Given the description of an element on the screen output the (x, y) to click on. 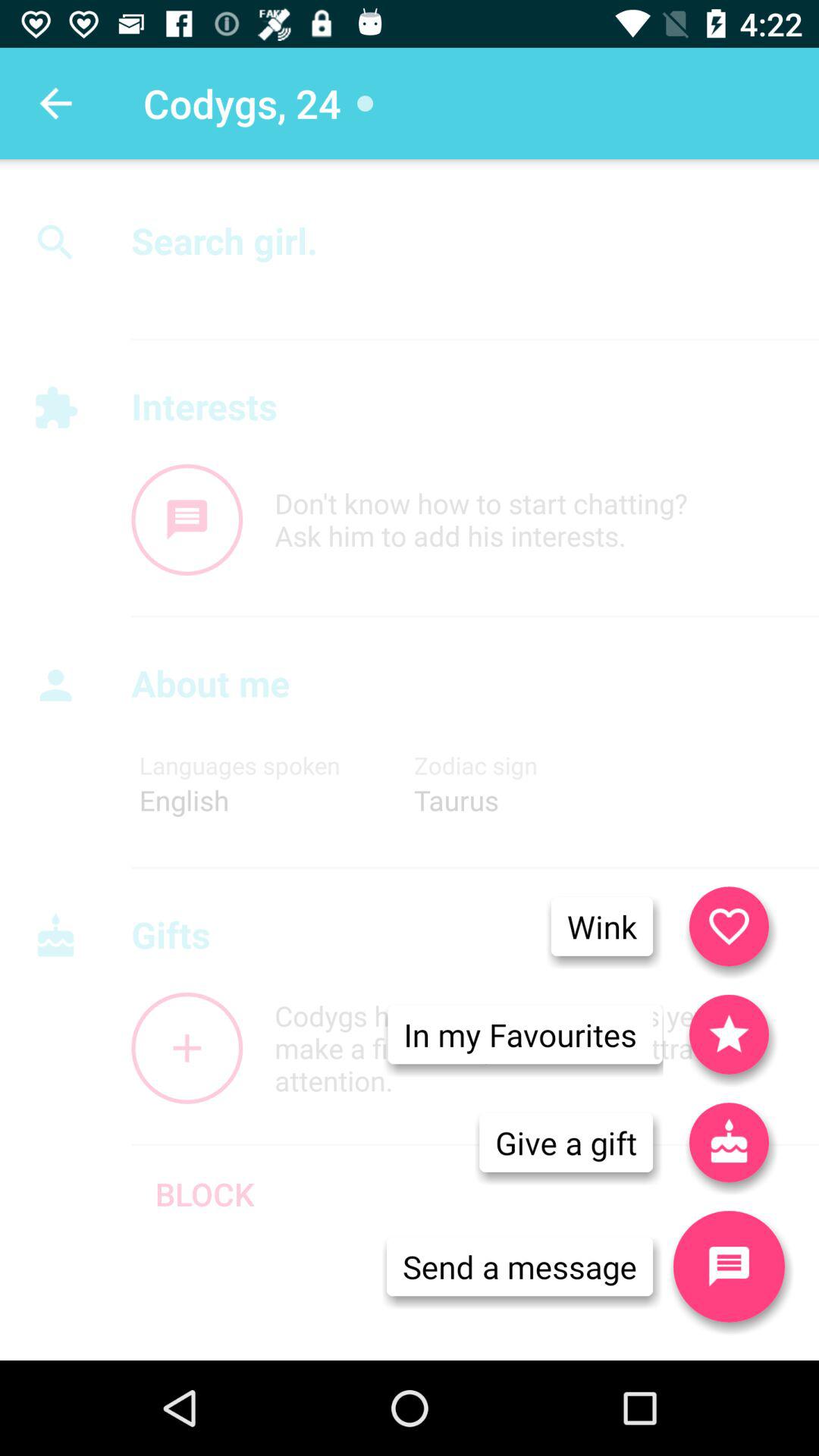
press the icon to the left of the codygs, 24 (55, 103)
